Given the description of an element on the screen output the (x, y) to click on. 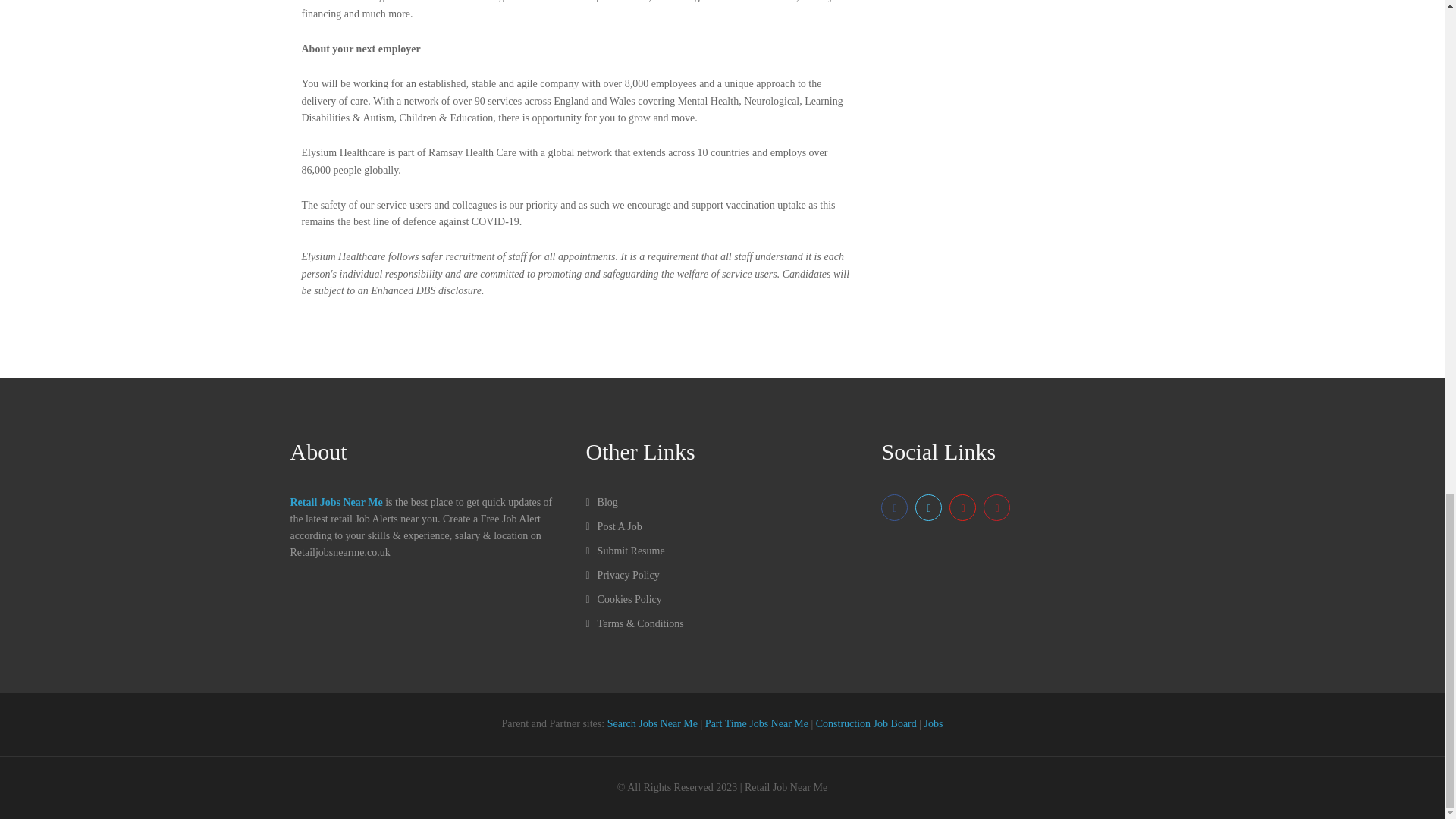
Retail Jobs Near Me (335, 501)
Part Time Jobs Near Me (756, 723)
Blog (601, 501)
Submit Resume (624, 550)
Cookies Policy (623, 599)
Post A Job (613, 526)
Jobs (933, 723)
Search Jobs Near Me (652, 723)
Construction Job Board (866, 723)
Privacy Policy (622, 574)
